Given the description of an element on the screen output the (x, y) to click on. 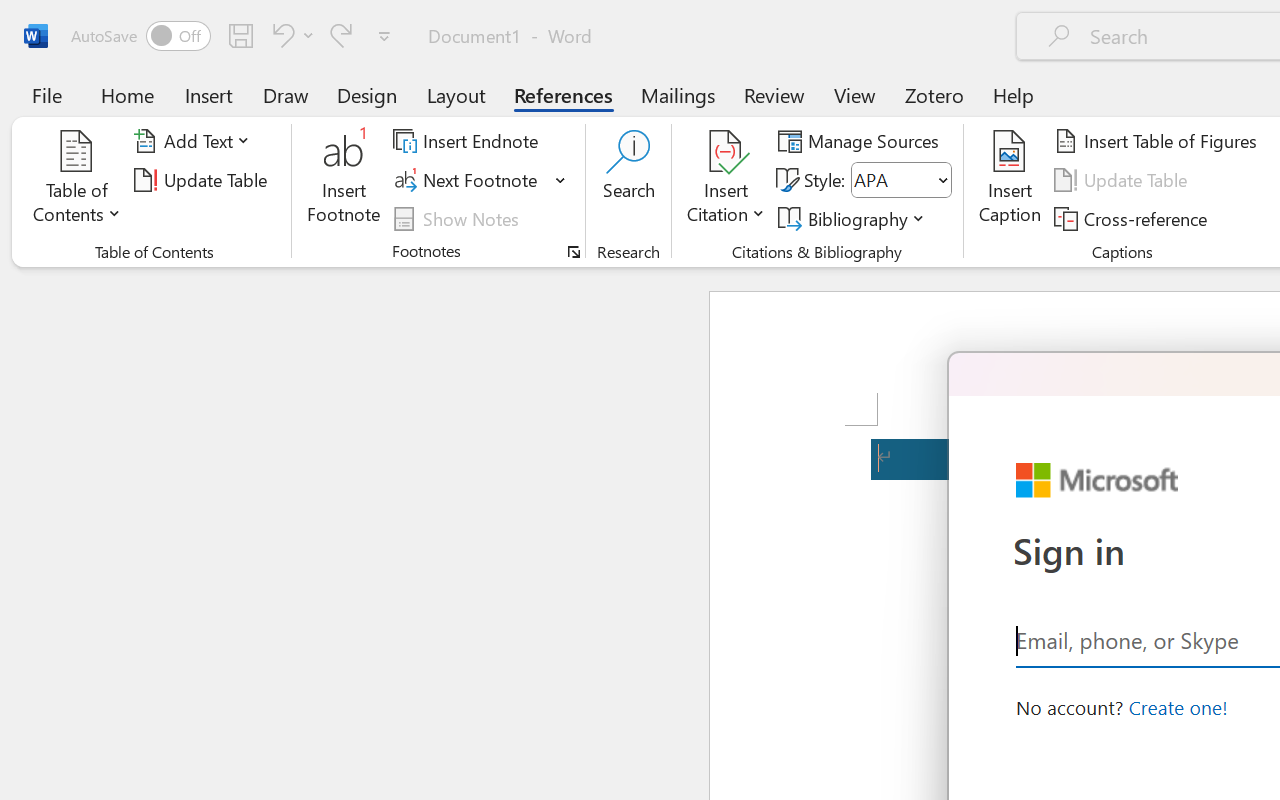
Add Text (195, 141)
Cross-reference... (1133, 218)
Undo Apply Quick Style Set (280, 35)
Next Footnote (479, 179)
Insert Footnote (344, 179)
Style (892, 179)
